Given the description of an element on the screen output the (x, y) to click on. 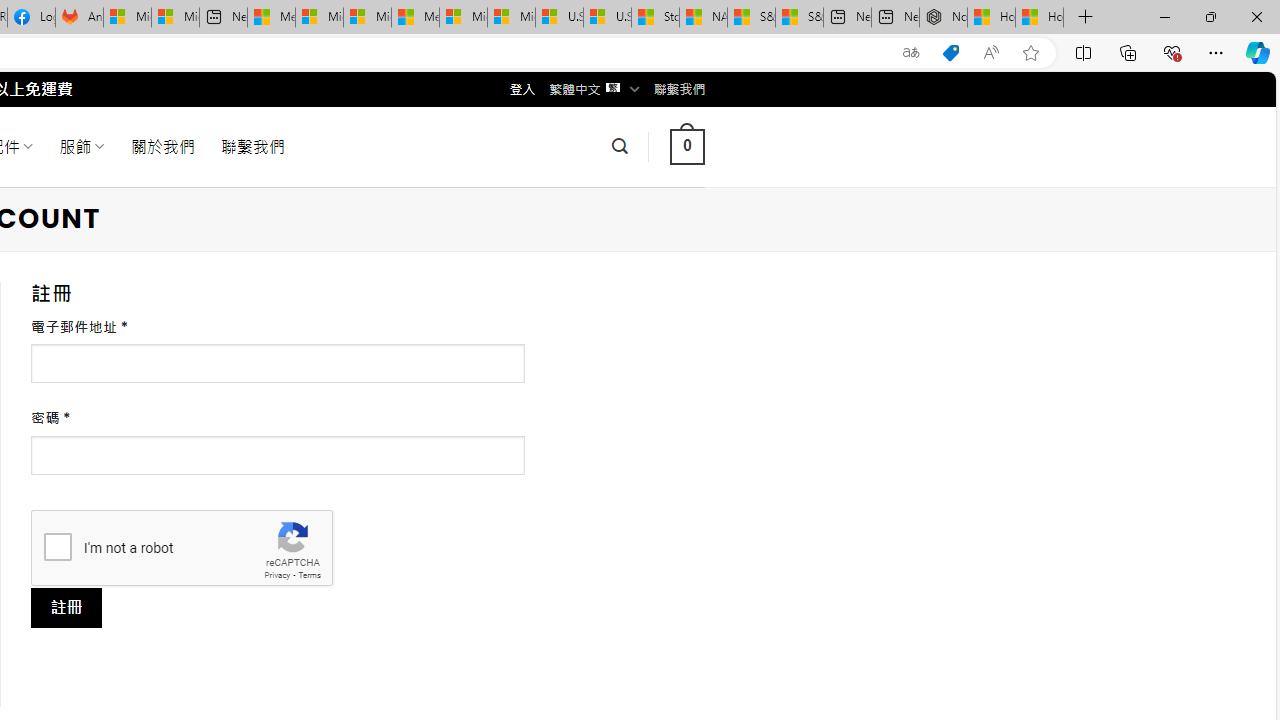
Show translate options (910, 53)
  0   (687, 146)
This site has coupons! Shopping in Microsoft Edge (950, 53)
